Given the description of an element on the screen output the (x, y) to click on. 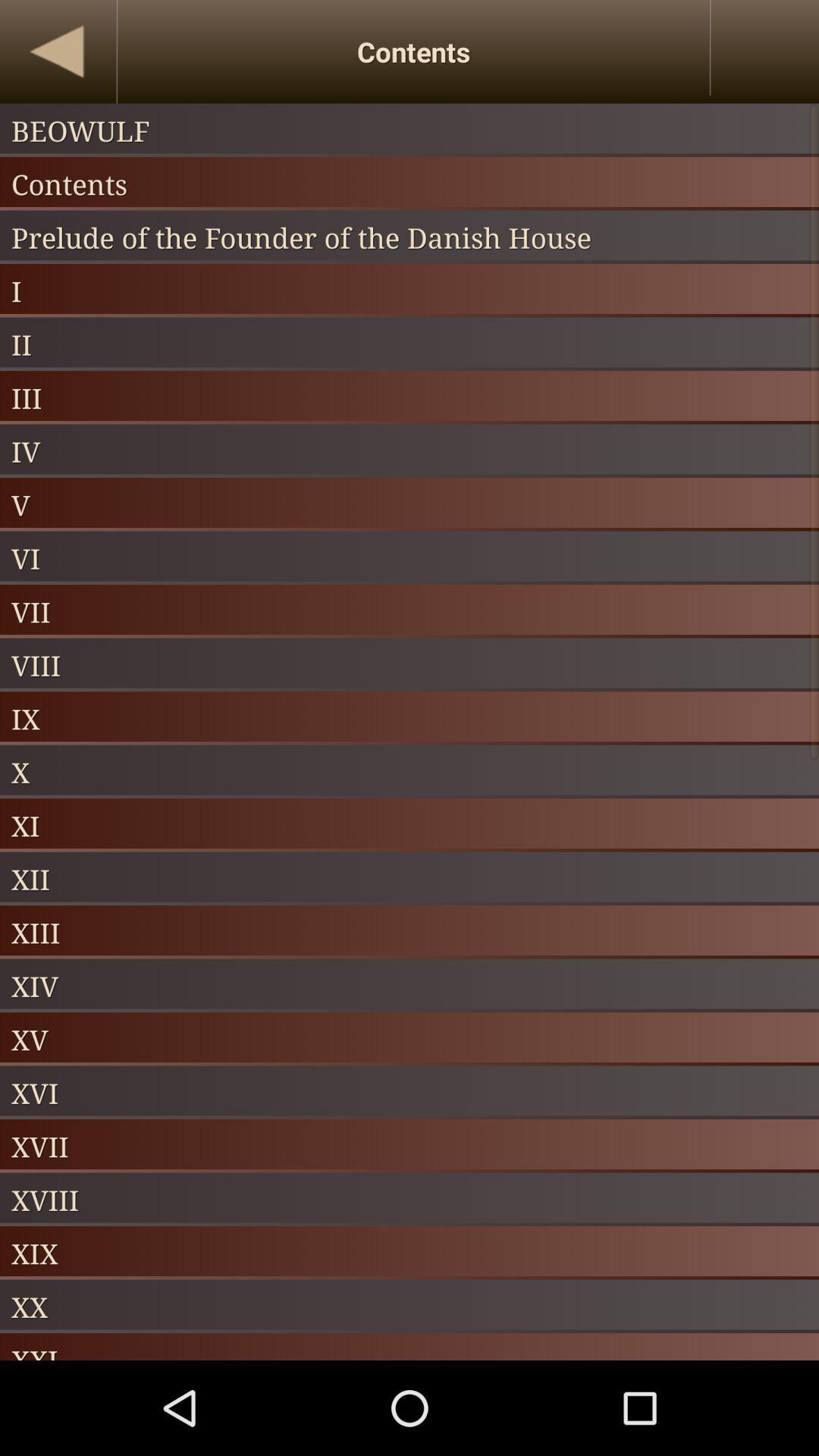
open iv item (409, 451)
